Given the description of an element on the screen output the (x, y) to click on. 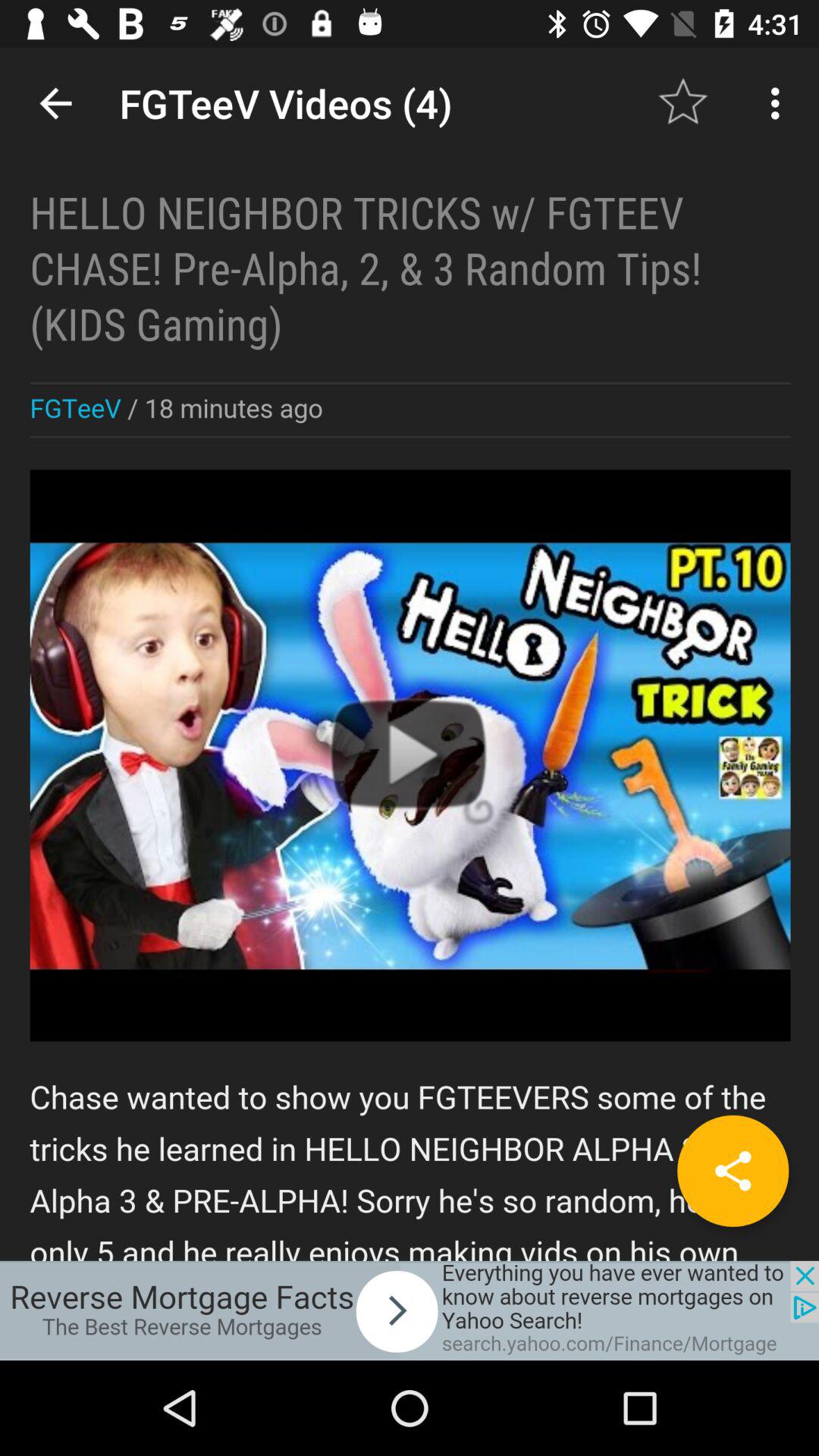
share on social media (733, 1171)
